Given the description of an element on the screen output the (x, y) to click on. 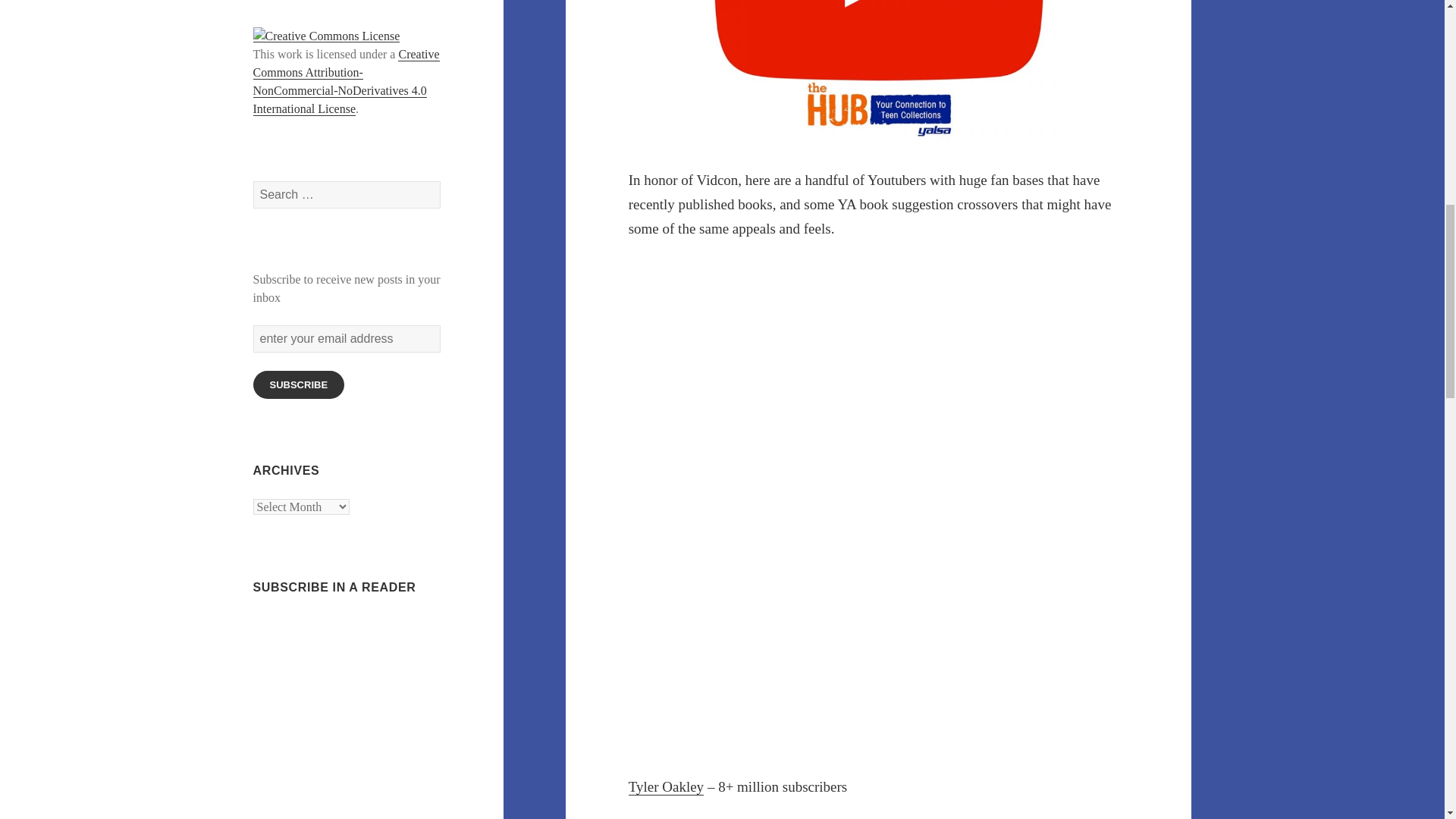
SUBSCRIBE (299, 384)
Tyler Oakley (665, 786)
